Given the description of an element on the screen output the (x, y) to click on. 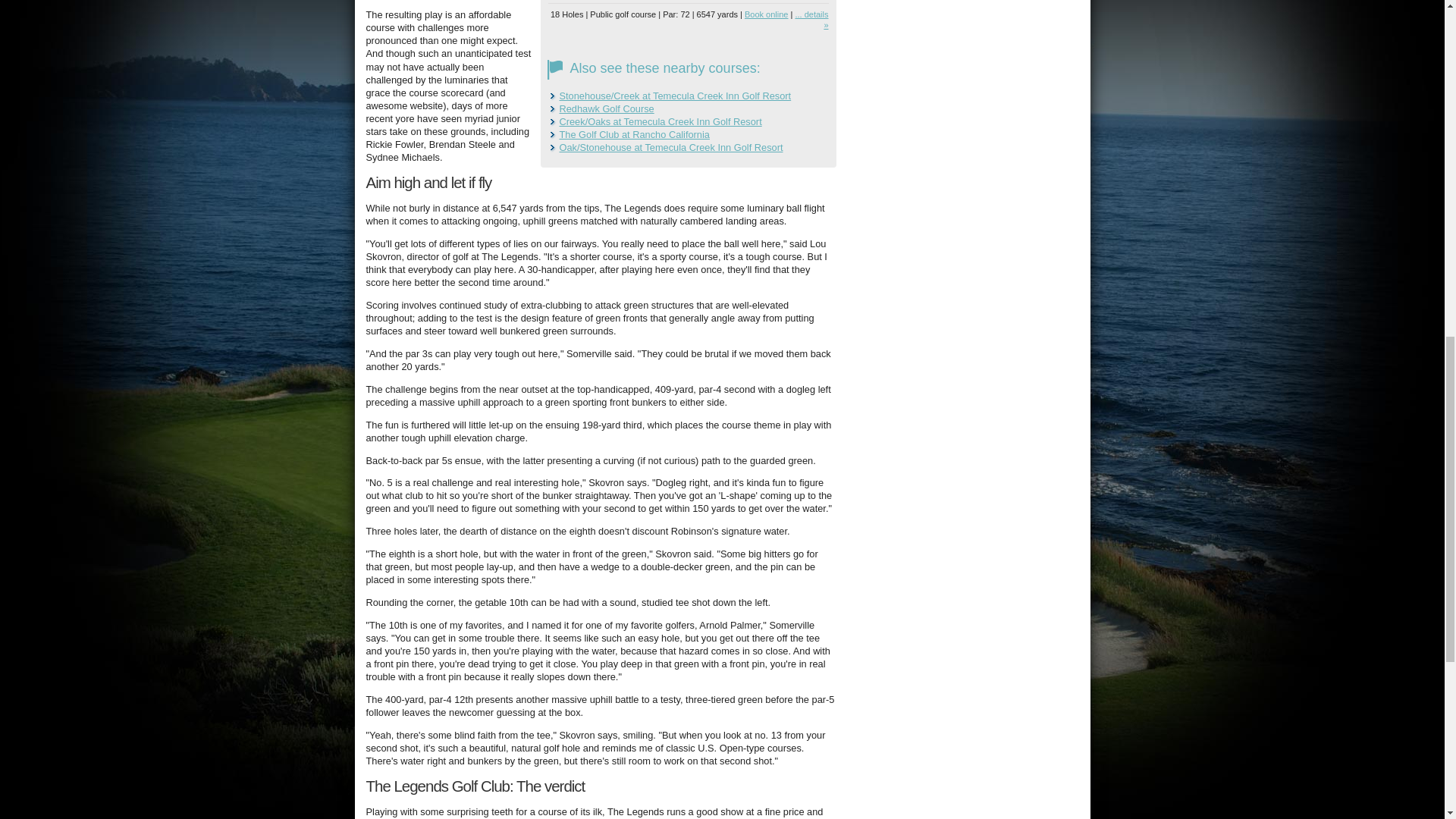
Redhawk Golf Course (606, 108)
The Golf Club at Rancho California (634, 134)
Book online (766, 13)
